Given the description of an element on the screen output the (x, y) to click on. 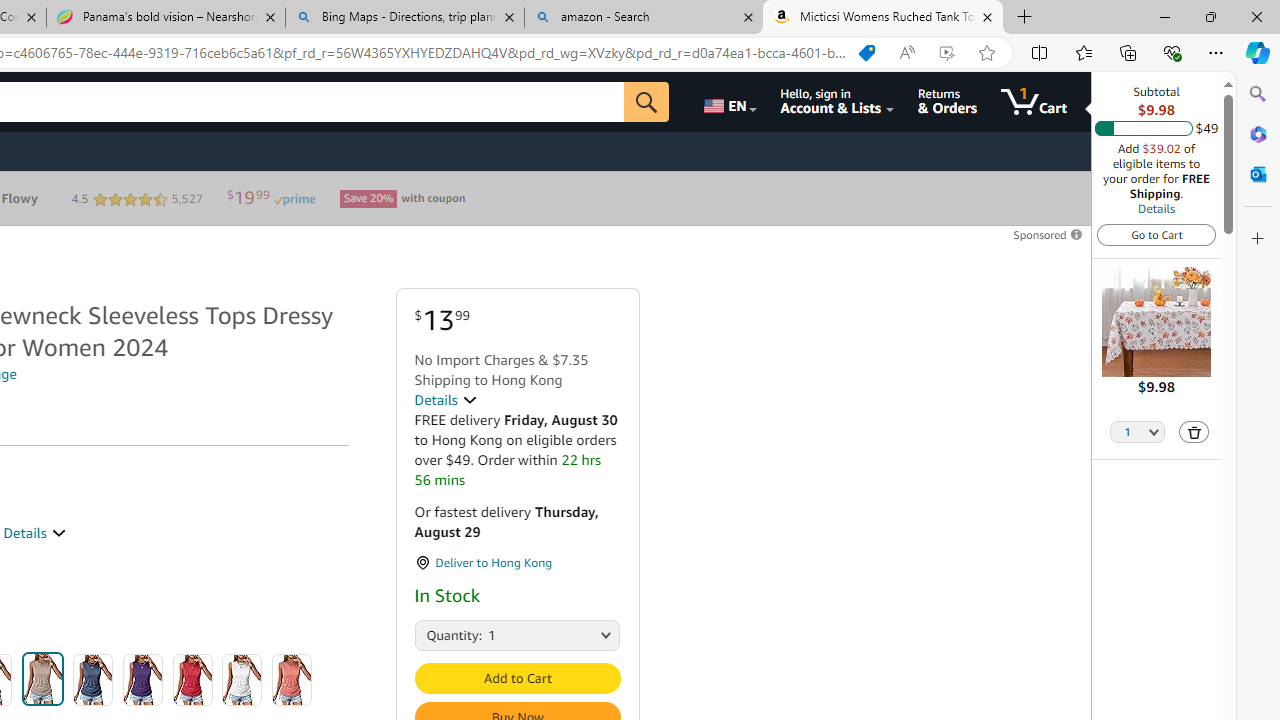
Red (192, 679)
Khaki (42, 678)
Enhance video (946, 53)
Add to Cart (516, 677)
Go (646, 101)
